Given the description of an element on the screen output the (x, y) to click on. 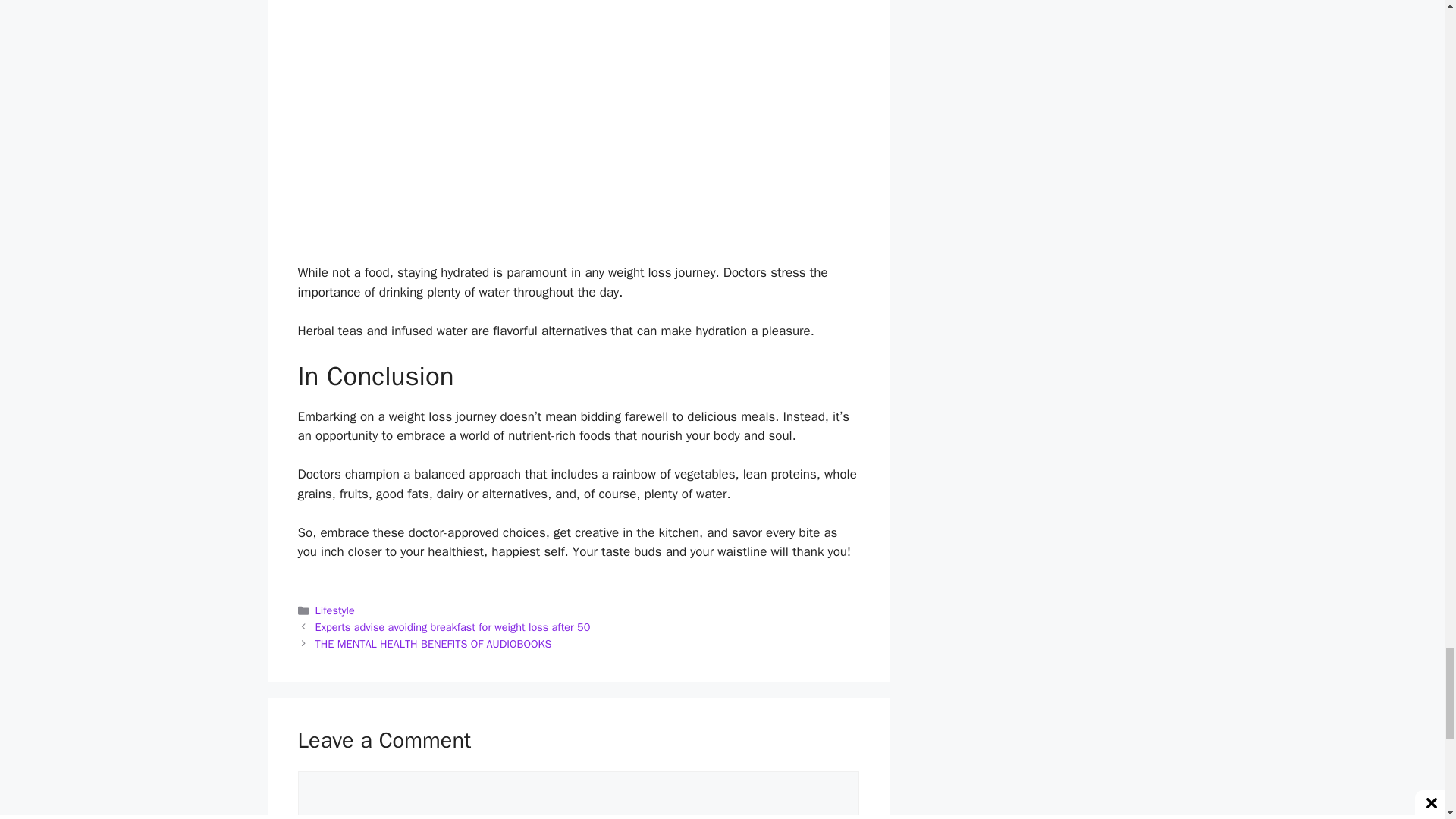
Experts advise avoiding breakfast for weight loss after 50 (453, 626)
THE MENTAL HEALTH BENEFITS OF AUDIOBOOKS (433, 643)
Lifestyle (335, 610)
